Given the description of an element on the screen output the (x, y) to click on. 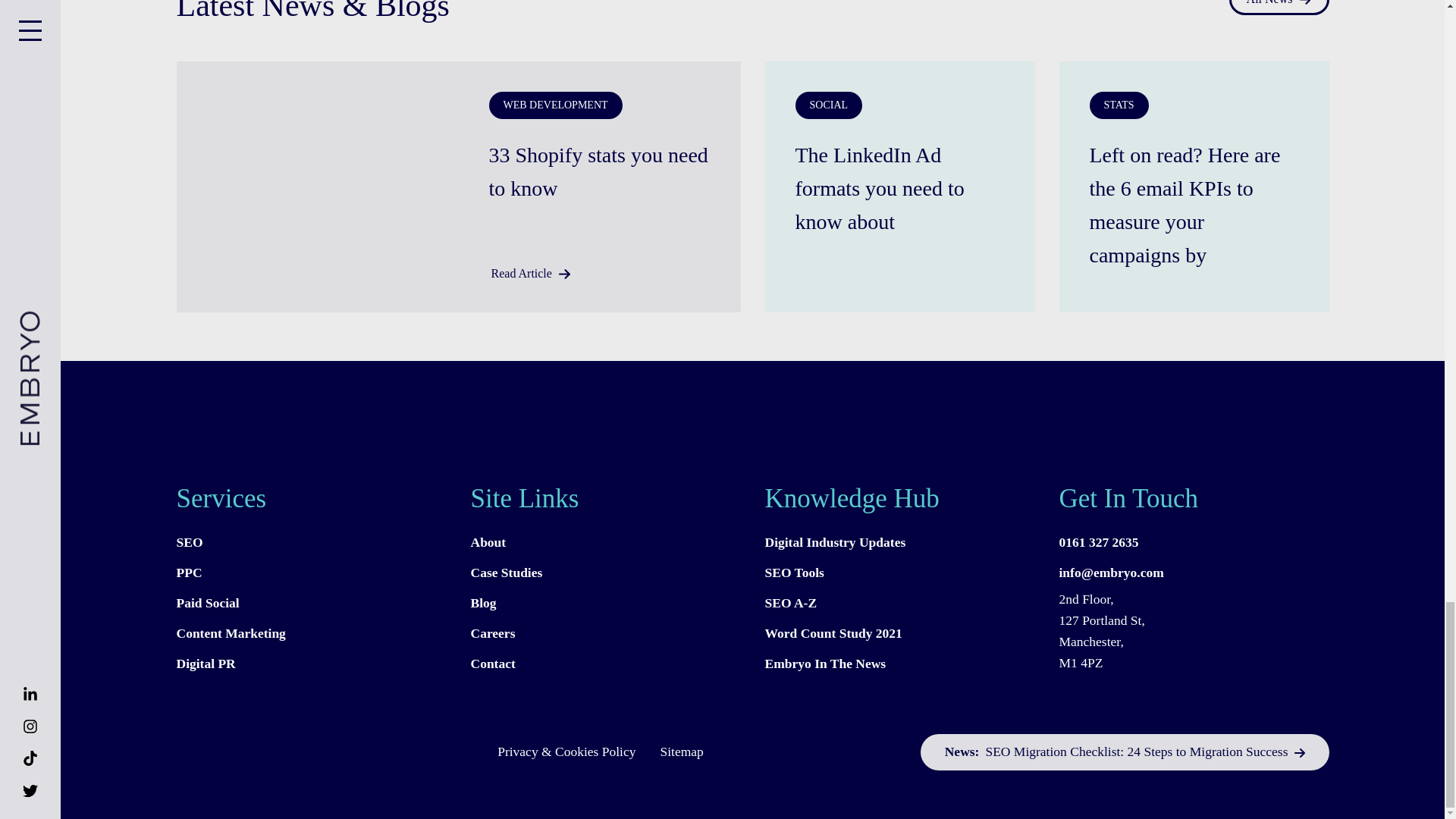
SEO (310, 542)
STATS (1118, 104)
Read article (899, 186)
Read Article (529, 272)
WEB DEVELOPMENT (554, 104)
All News (1278, 7)
Read article (1193, 203)
SOCIAL (827, 104)
PPC (310, 572)
